Given the description of an element on the screen output the (x, y) to click on. 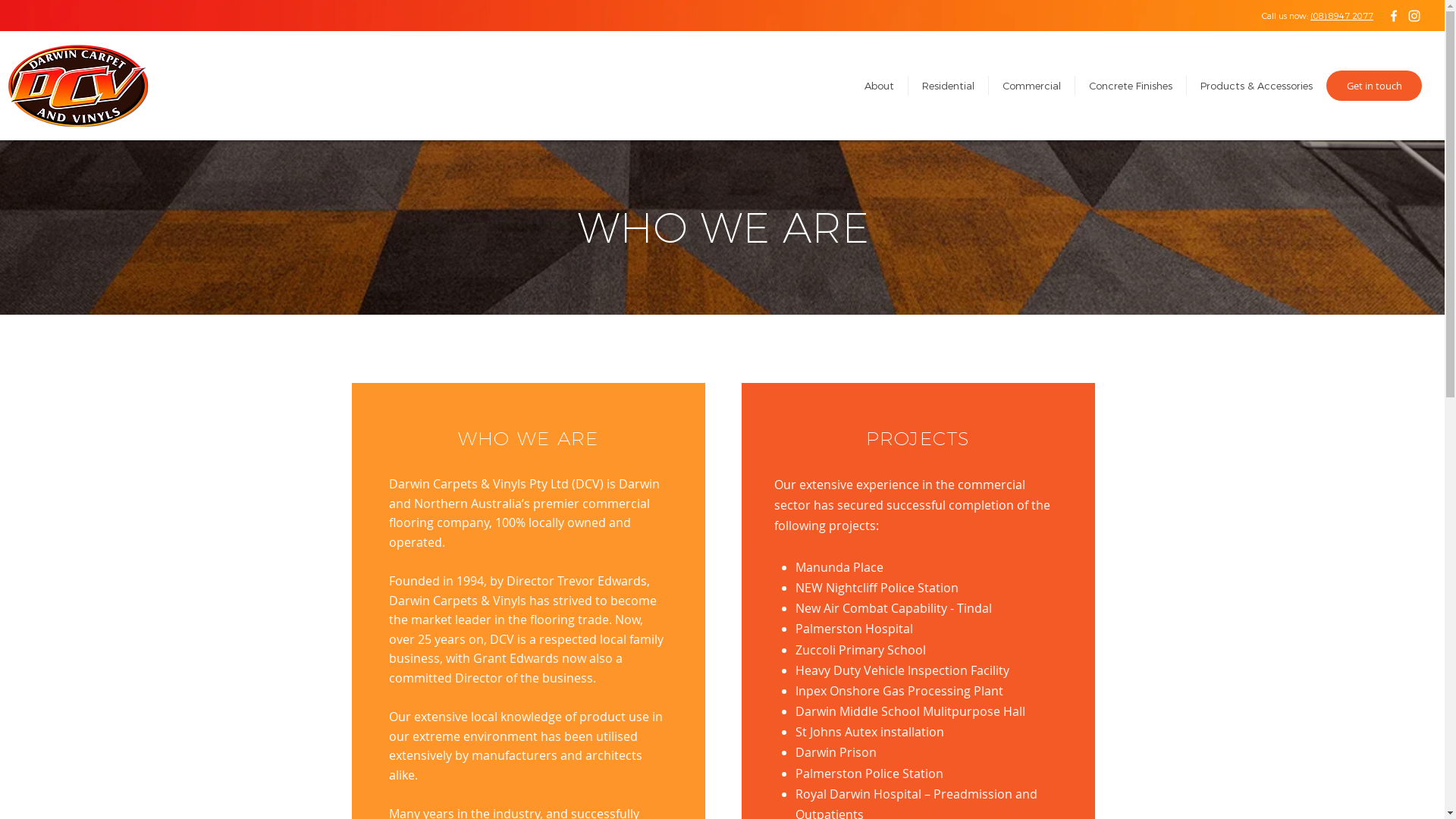
(08) 8947 2077 Element type: text (1341, 15)
Residential Element type: text (948, 85)
About Element type: text (878, 85)
Commercial Element type: text (1031, 85)
Products & Accessories Element type: text (1256, 85)
Concrete Finishes Element type: text (1130, 85)
Get in touch Element type: text (1373, 85)
